Given the description of an element on the screen output the (x, y) to click on. 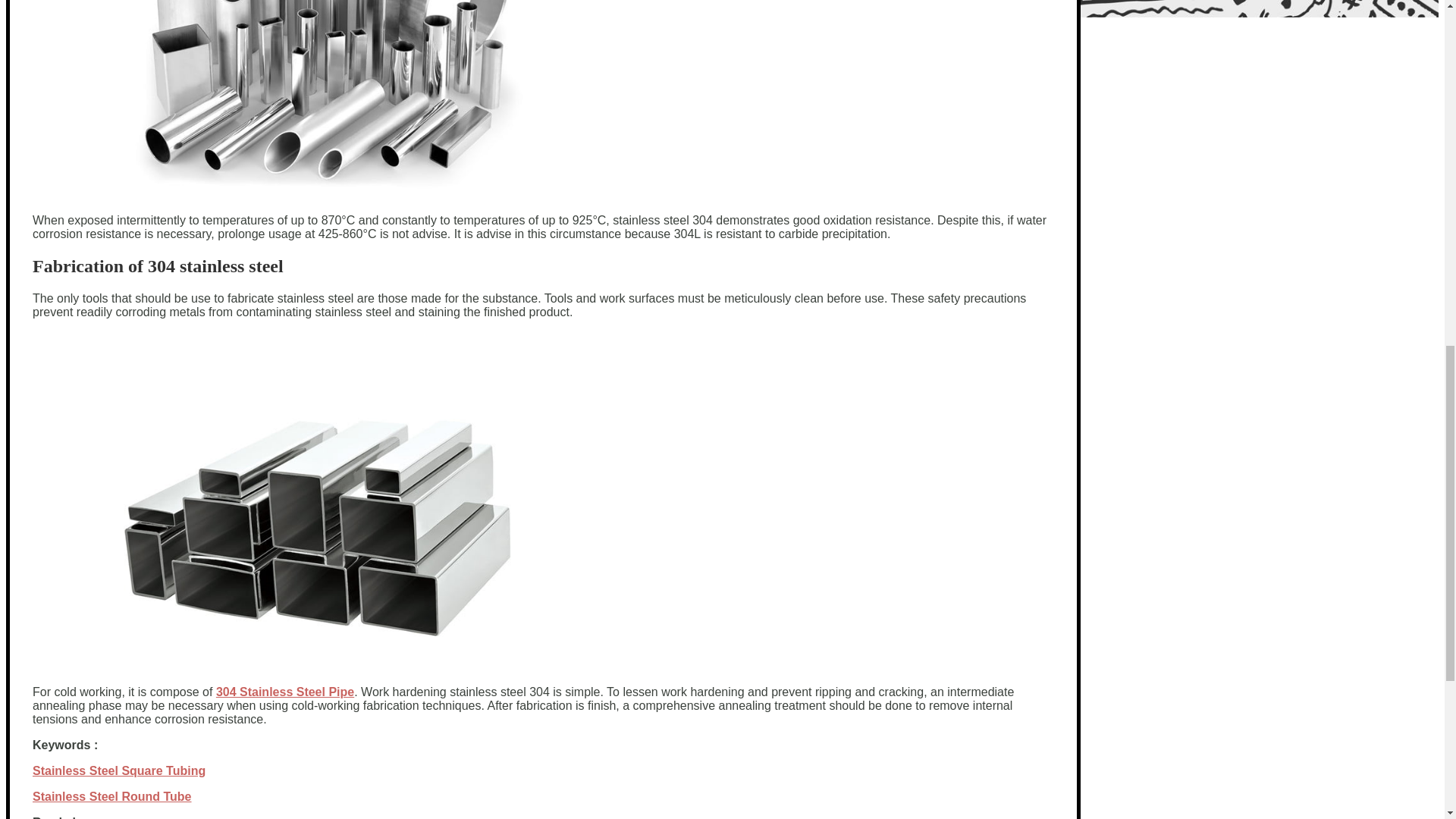
304 Stainless Steel Pipe (284, 691)
Stainless Steel Round Tube (112, 796)
Stainless Steel Square Tubing (118, 770)
